Given the description of an element on the screen output the (x, y) to click on. 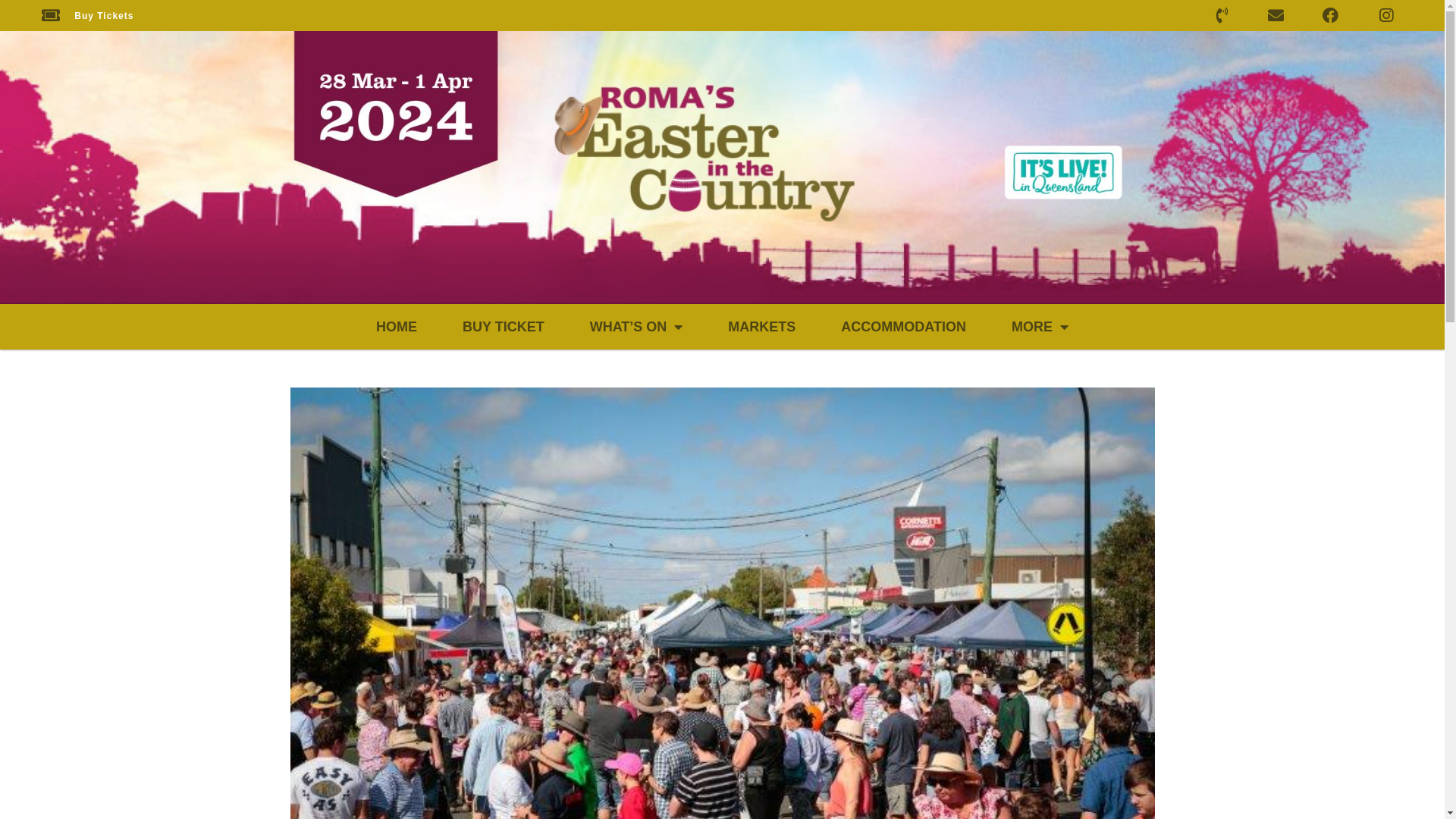
MORE Element type: text (1039, 326)
HOME Element type: text (396, 326)
Buy Tickets Element type: text (87, 15)
BUY TICKET Element type: text (503, 326)
ACCOMMODATION Element type: text (903, 326)
MARKETS Element type: text (761, 326)
